Given the description of an element on the screen output the (x, y) to click on. 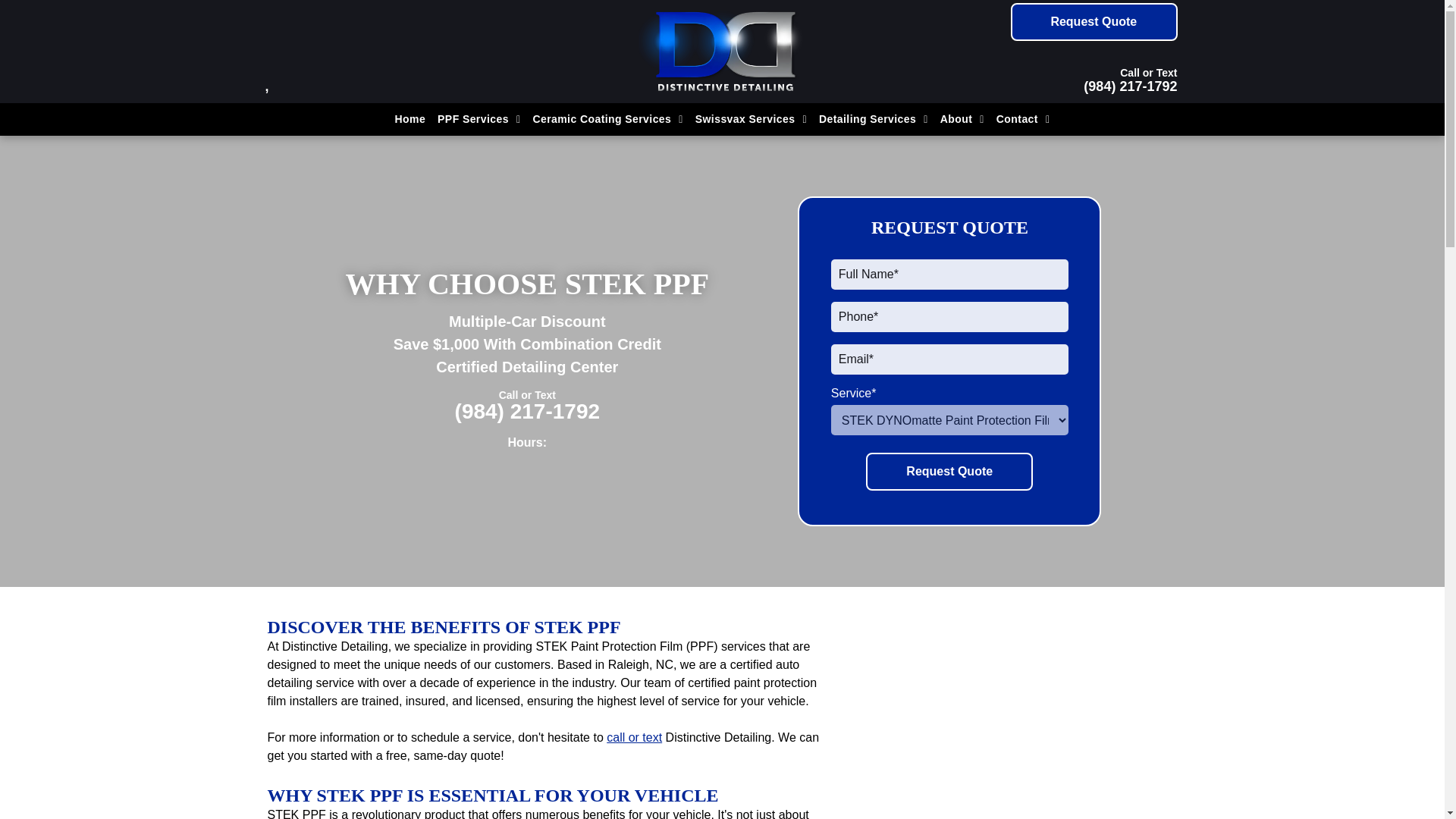
Detailing Services (873, 119)
call or text (634, 737)
Request Quote (949, 471)
Contact (1023, 119)
PPF Services (477, 119)
Request Quote (949, 471)
Home (410, 119)
Ceramic Coating Services (606, 119)
Swissvax Services (750, 119)
Request Quote (1093, 21)
